Given the description of an element on the screen output the (x, y) to click on. 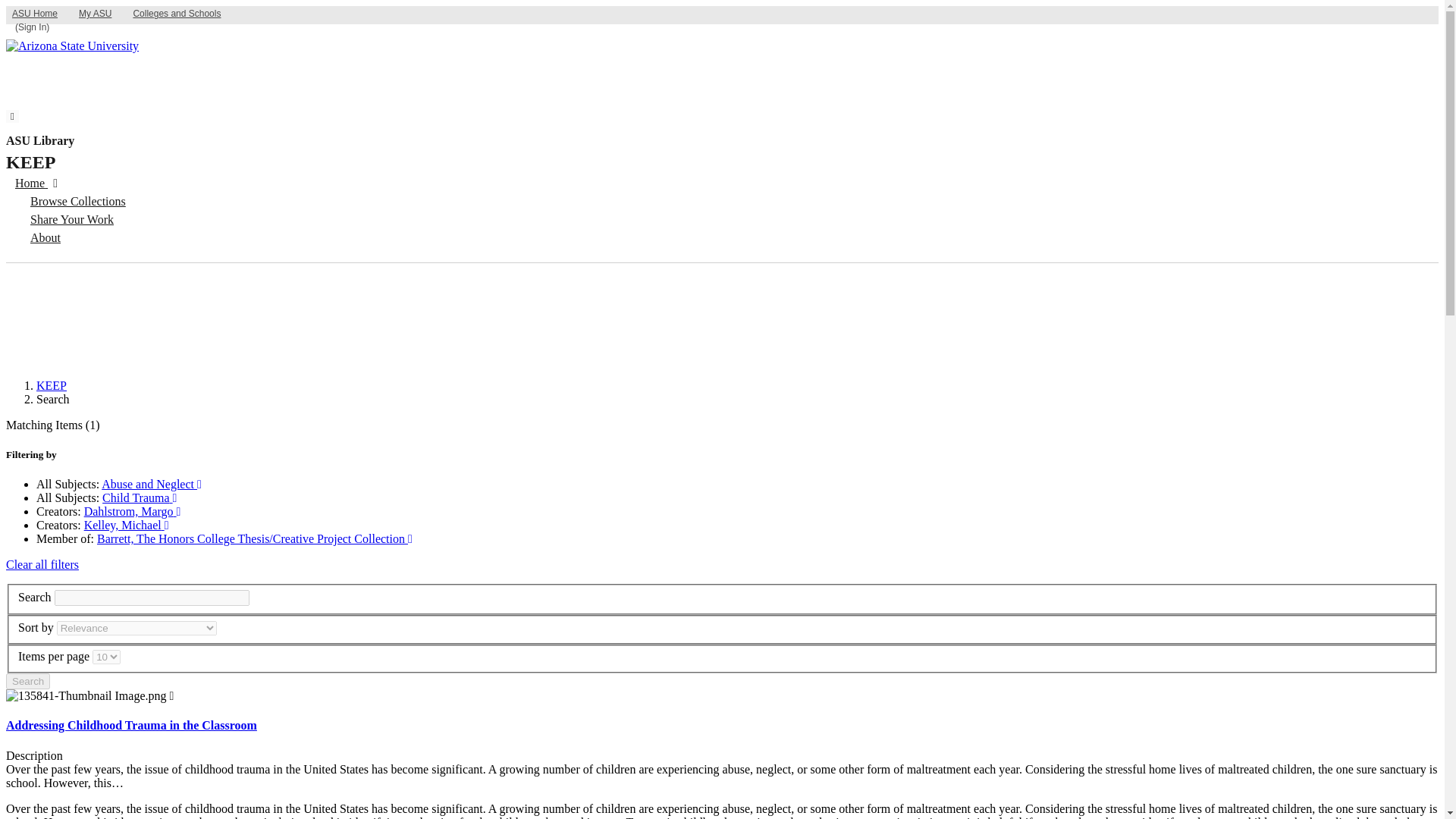
KEEP (51, 385)
Search (27, 681)
Sign In (30, 26)
ASU Library (39, 141)
Search (27, 681)
Dahlstrom, Margo (132, 511)
My ASU (94, 13)
Home (65, 191)
Kelley, Michael (126, 524)
Home (55, 183)
About (65, 246)
Search (27, 681)
Clear all filters (41, 563)
ASU Home (34, 13)
Colleges and Schools (176, 13)
